Given the description of an element on the screen output the (x, y) to click on. 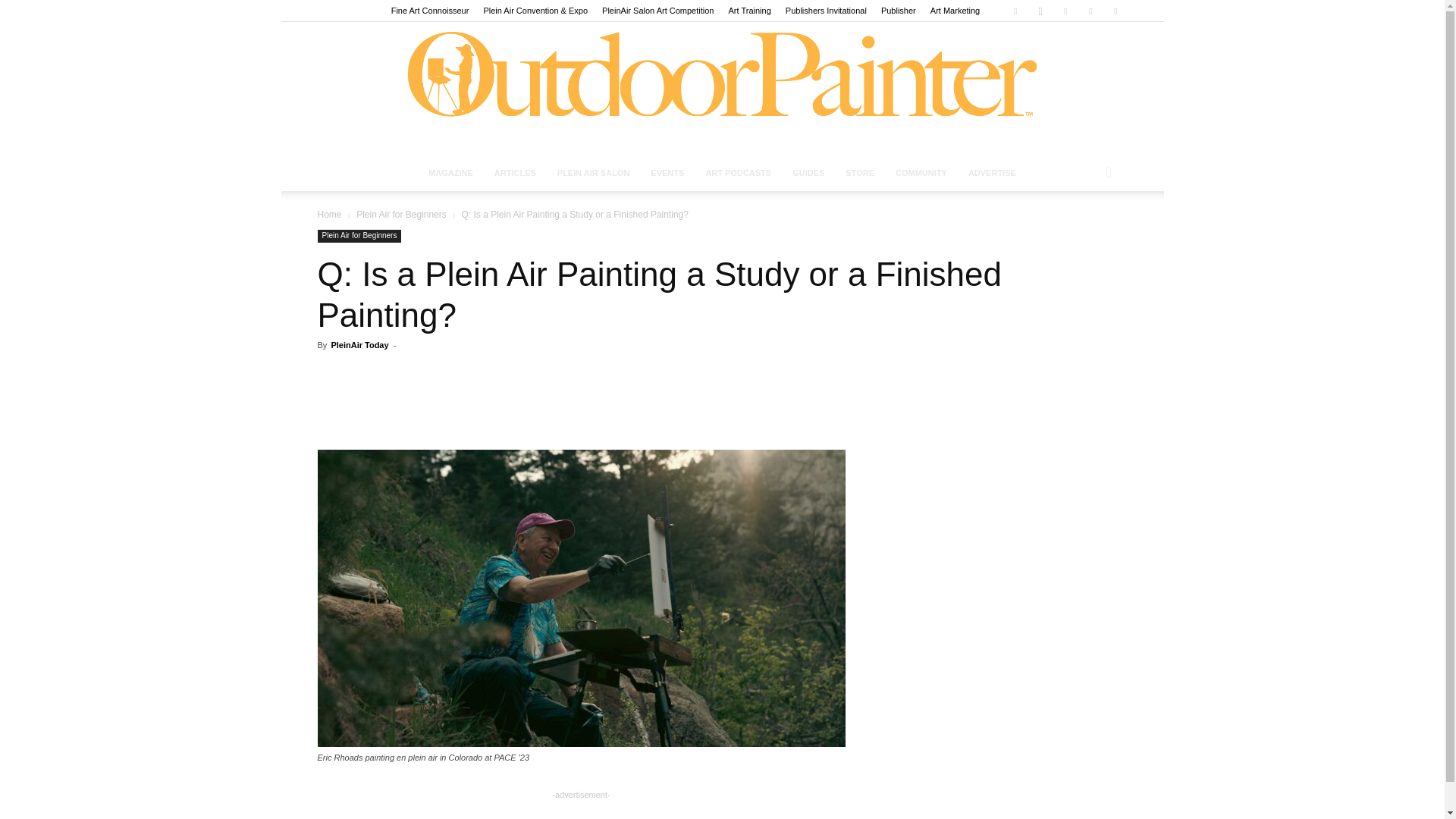
Soundcloud (1065, 10)
Facebook (1015, 10)
topFacebookLike (430, 372)
Outdoor Painter - Home of Plein Air Magazine (721, 88)
Twitter (1090, 10)
View all posts in Plein Air for Beginners (401, 214)
Instagram (1040, 10)
Youtube (1114, 10)
